Given the description of an element on the screen output the (x, y) to click on. 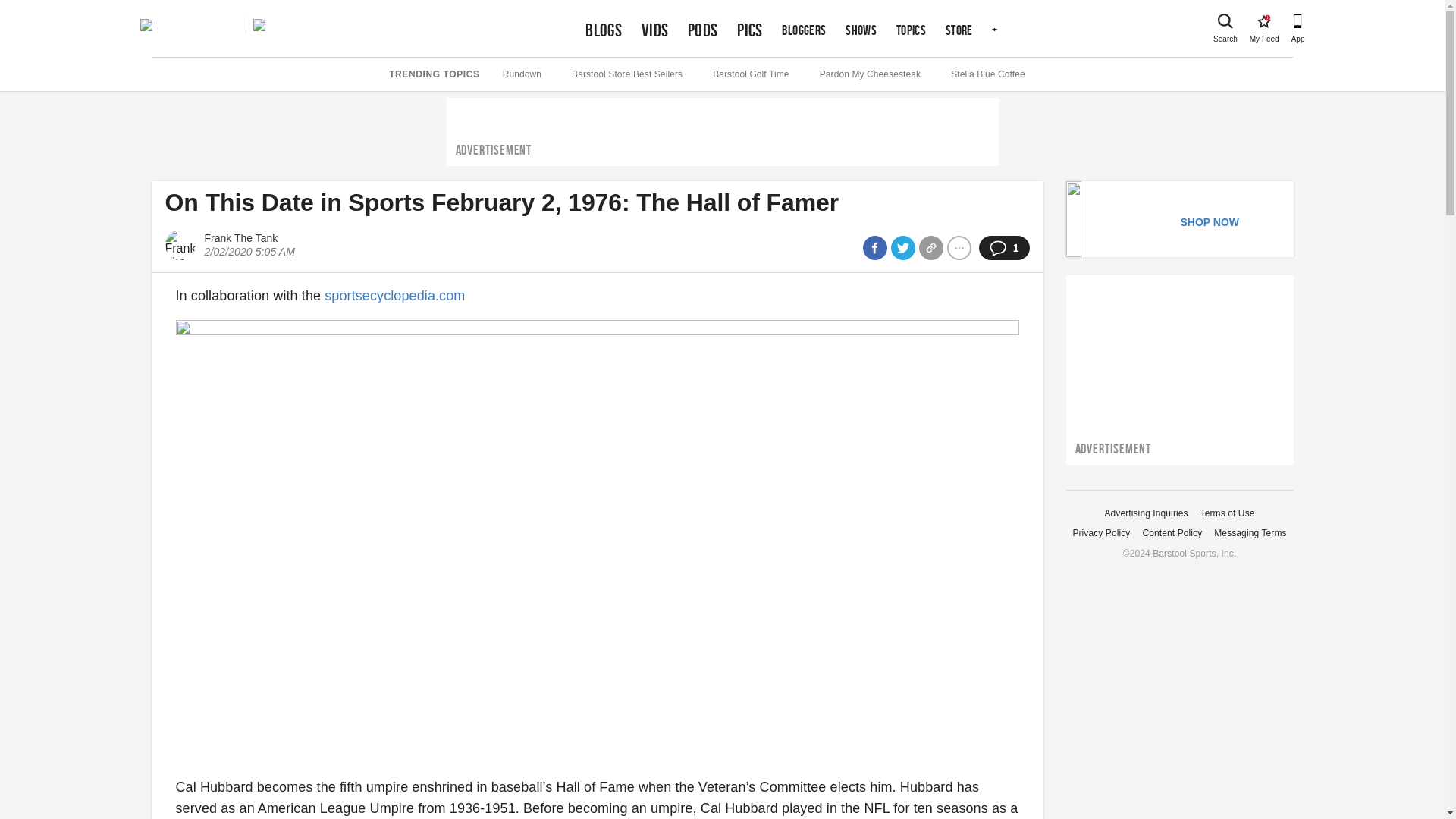
Search (1225, 20)
TOPICS (911, 30)
BLOGS (1263, 20)
SHOWS (603, 30)
BLOGGERS (860, 30)
PODS (804, 30)
